Given the description of an element on the screen output the (x, y) to click on. 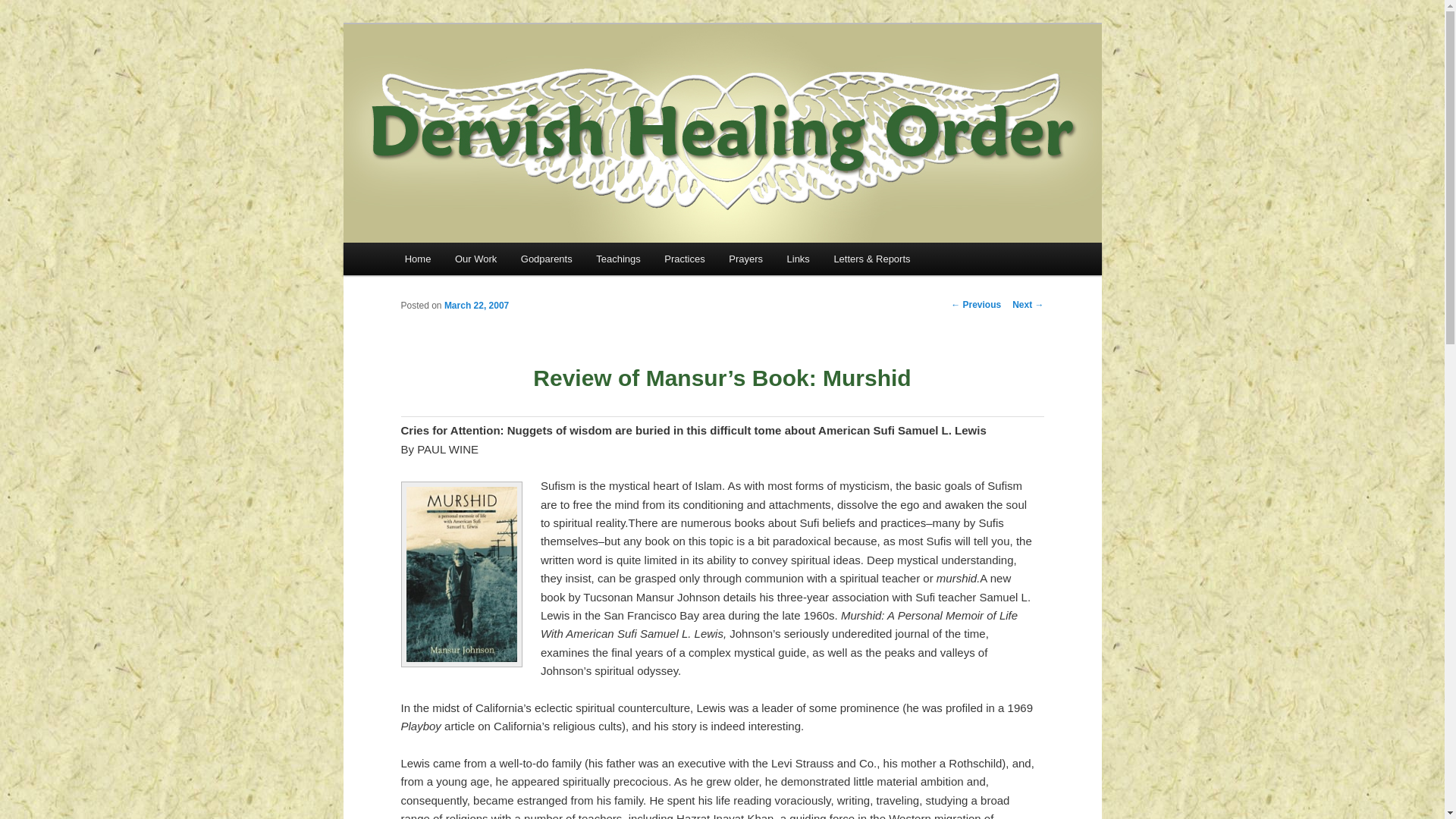
7:02 pm (476, 305)
Our Work (475, 258)
Mansur's-book-Murshid (460, 574)
Godparents (545, 258)
Home (417, 258)
Dervish Healing Order (544, 79)
Dervish Healing Order (544, 79)
